Given the description of an element on the screen output the (x, y) to click on. 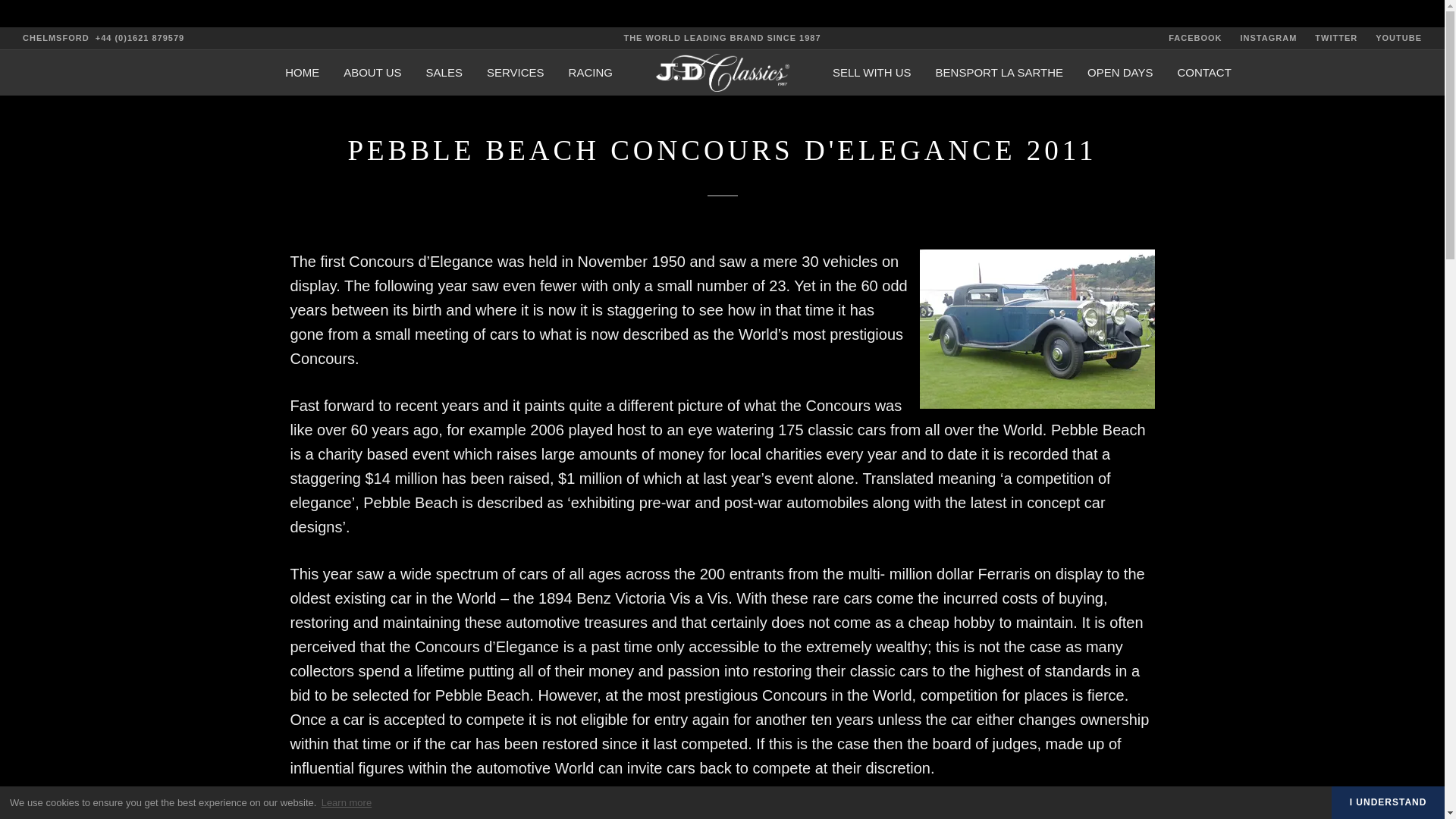
HOME (301, 72)
SALES (444, 72)
INSTAGRAM (1268, 38)
TWITTER (1335, 38)
RACING (590, 72)
YOUTUBE (1398, 38)
SERVICES (516, 72)
FACEBOOK (1195, 38)
ABOUT US (371, 72)
Learn more (346, 802)
